Given the description of an element on the screen output the (x, y) to click on. 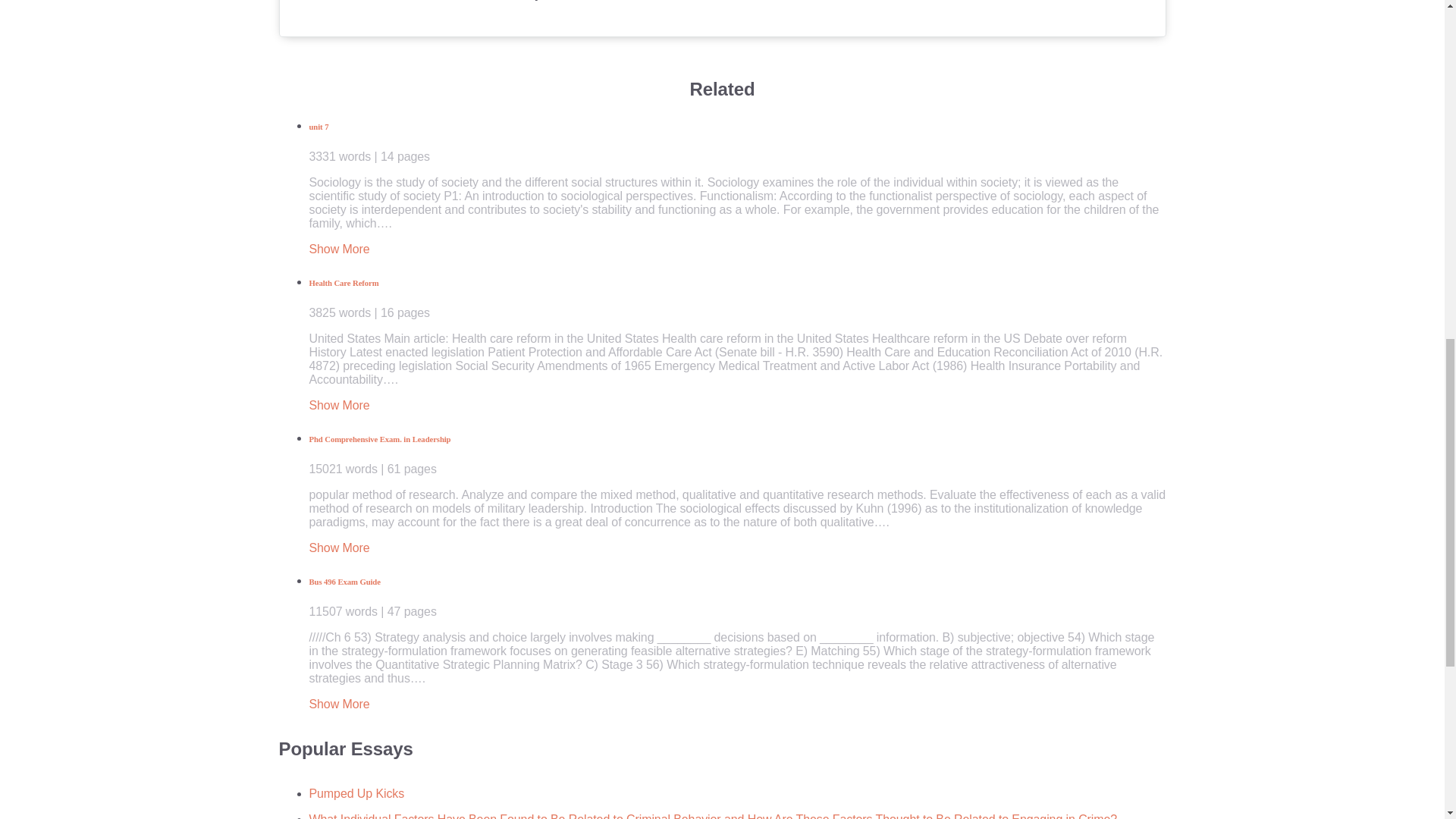
Show More (338, 248)
Show More (338, 547)
Show More (338, 404)
Show More (338, 703)
Pumped Up Kicks (356, 793)
Bus 496 Exam Guide (737, 597)
unit 7 (737, 142)
Health Care Reform (737, 298)
Phd Comprehensive Exam. in Leadership (737, 454)
Pumped Up Kicks (356, 793)
